Given the description of an element on the screen output the (x, y) to click on. 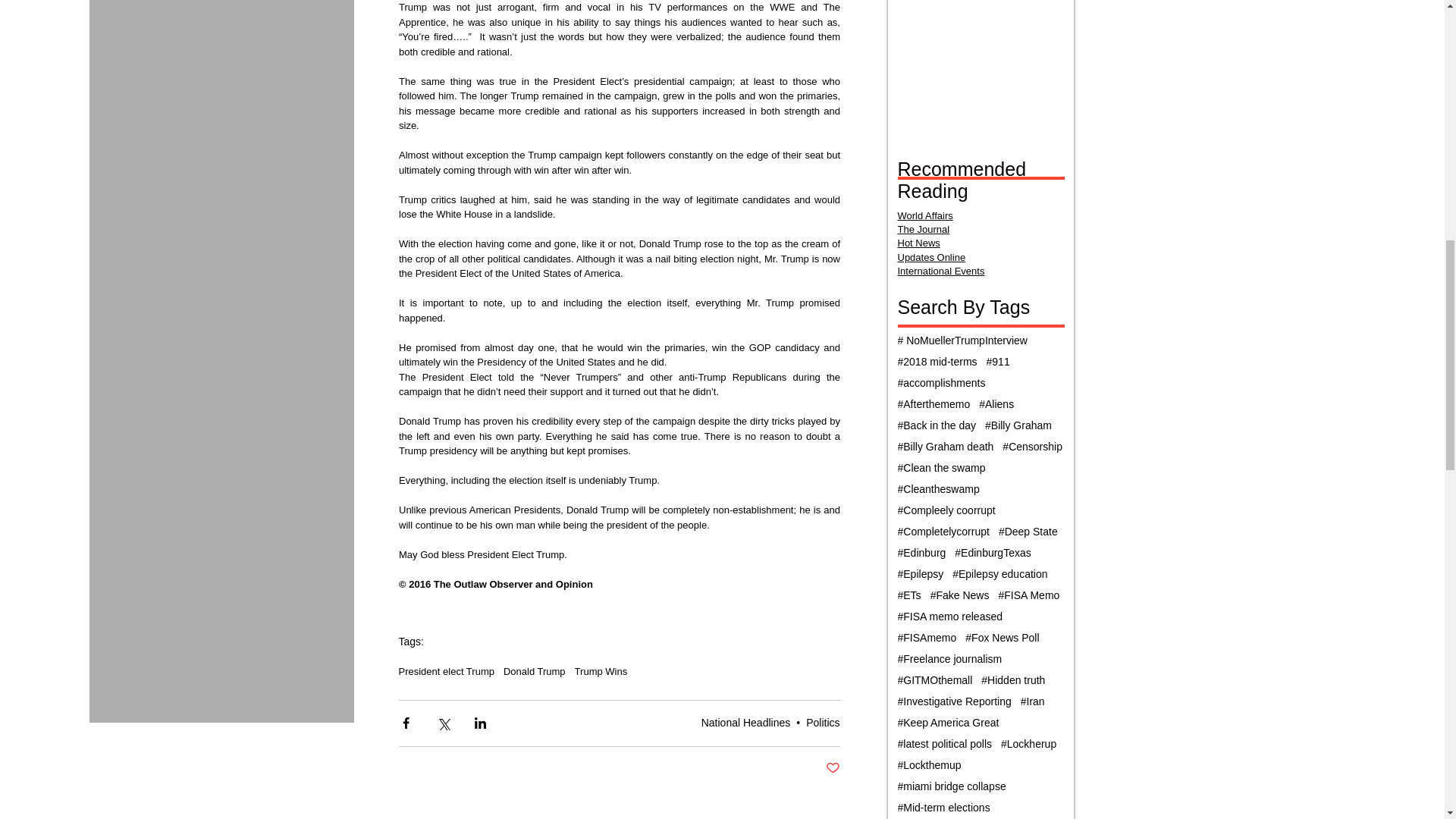
Donald Trump (534, 671)
Post not marked as liked (832, 768)
Politics (823, 722)
President elect Trump (446, 671)
National Headlines (745, 722)
Trump Wins (601, 671)
